Given the description of an element on the screen output the (x, y) to click on. 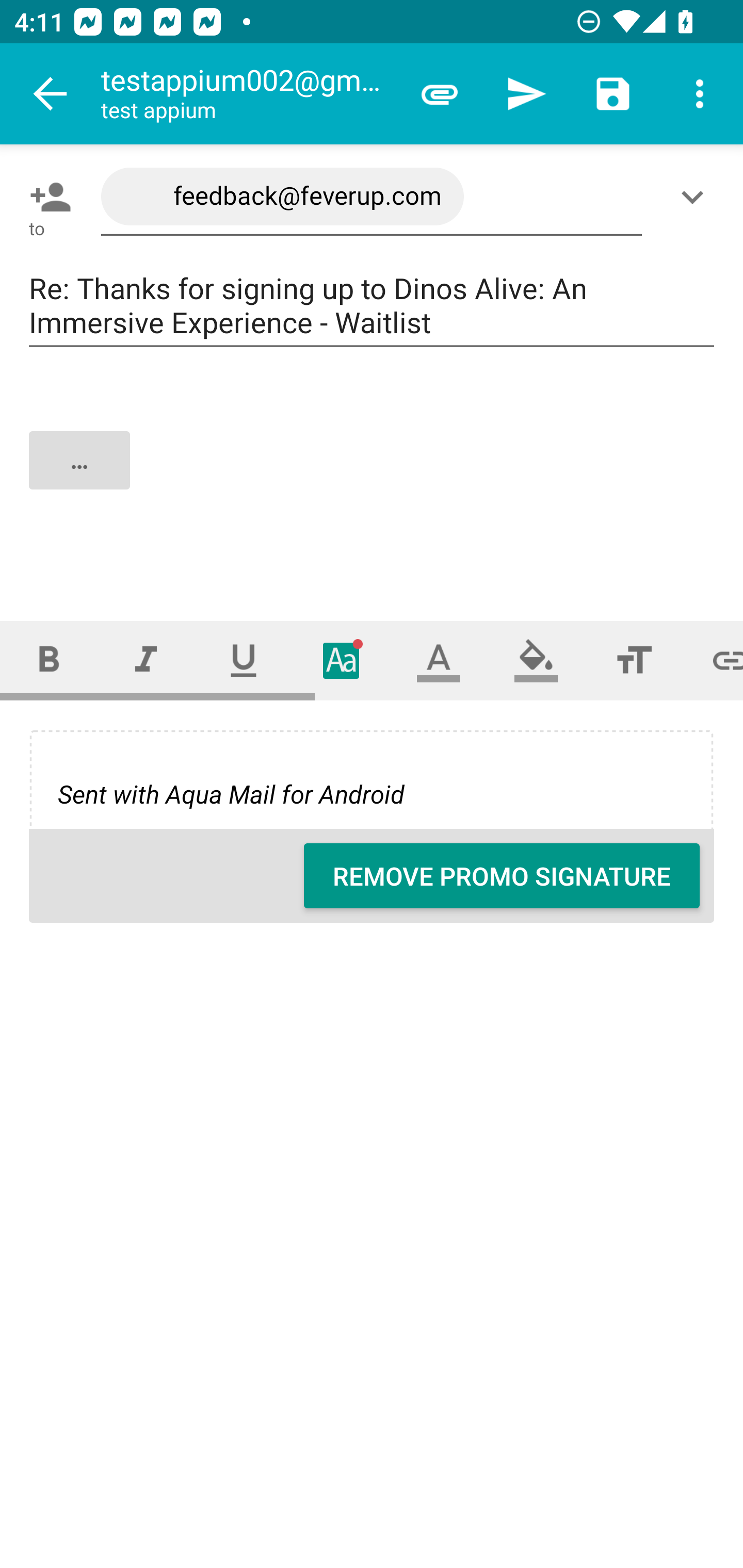
Navigate up (50, 93)
testappium002@gmail.com test appium (248, 93)
Attach (439, 93)
Send (525, 93)
Save (612, 93)
More options (699, 93)
feedback@feverup.com,  (371, 197)
Pick contact: To (46, 196)
Show/Add CC/BCC (696, 196)

…
 (372, 477)
Bold (48, 660)
Italic (145, 660)
Underline (243, 660)
Typeface (font) (341, 660)
Text color (438, 660)
Fill color (536, 660)
Font size (633, 660)
REMOVE PROMO SIGNATURE (501, 875)
